Given the description of an element on the screen output the (x, y) to click on. 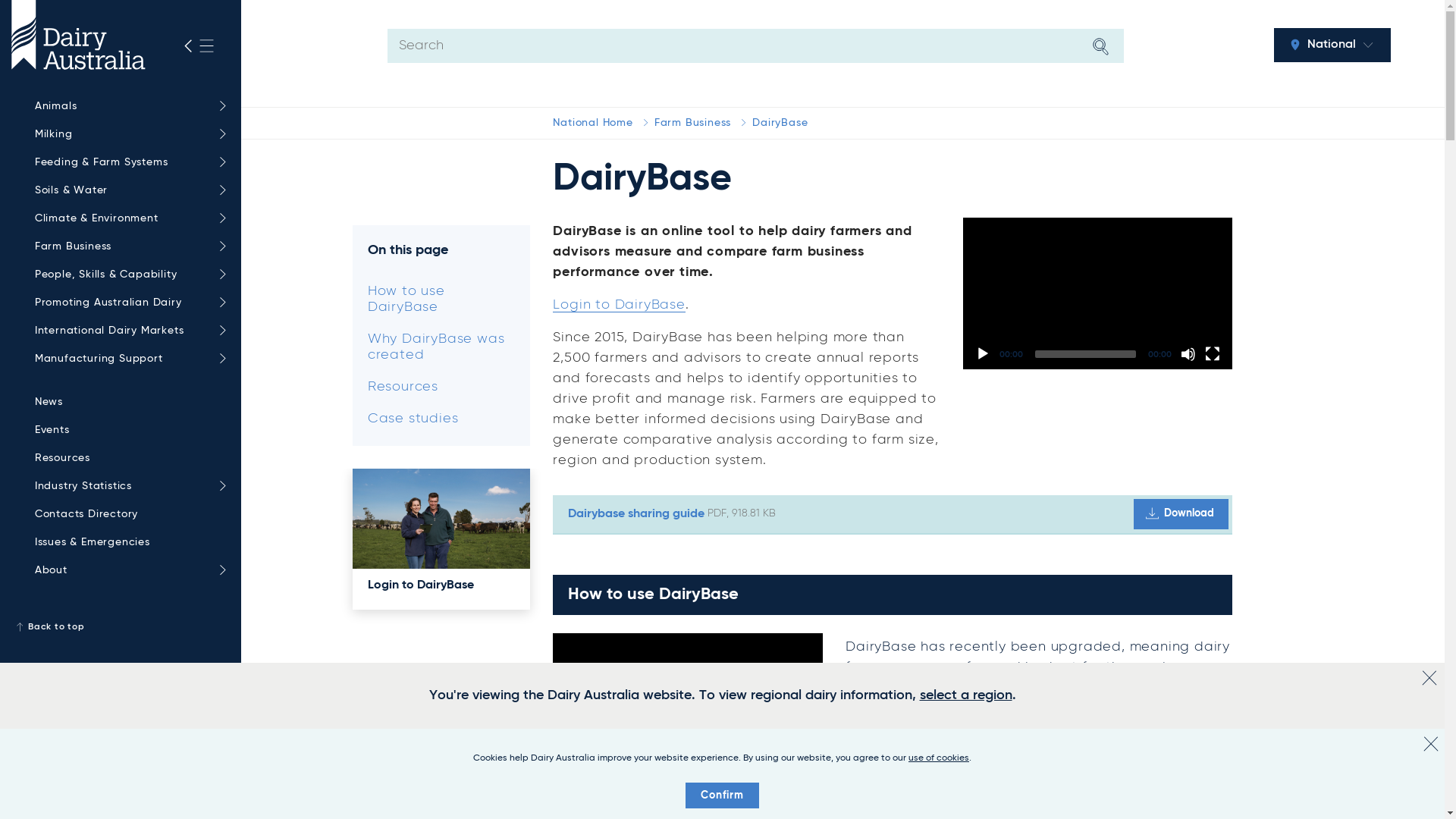
About Element type: text (126, 570)
X Element type: text (1429, 677)
Promoting Australian Dairy Element type: text (126, 302)
National Home Element type: text (592, 122)
Login to DairyBase Element type: text (618, 305)
Climate & Environment Element type: text (126, 218)
International Dairy Markets Element type: text (126, 330)
Login to DairyBase Element type: text (441, 588)
Download Element type: text (1180, 513)
Fullscreen Element type: hover (802, 769)
Farm Business Element type: text (692, 122)
Fullscreen Element type: hover (1212, 353)
Industry Statistics Element type: text (126, 486)
Play Element type: hover (572, 769)
Resources Element type: text (126, 458)
Milking Element type: text (126, 134)
select a region Element type: text (965, 695)
Mute Element type: hover (1187, 353)
Why DairyBase was created Element type: text (441, 347)
Animals Element type: text (126, 106)
Back to top Element type: text (120, 626)
Case studies Element type: text (441, 419)
DairyBase Element type: text (779, 122)
X Element type: text (1430, 743)
Events Element type: text (126, 430)
Mute Element type: hover (778, 769)
Soils & Water Element type: text (126, 190)
Issues & Emergencies Element type: text (126, 542)
Play Element type: hover (982, 353)
Resources Element type: text (441, 387)
People, Skills & Capability Element type: text (126, 274)
Feeding & Farm Systems Element type: text (126, 162)
Farm Business Element type: text (126, 246)
News Element type: text (126, 402)
Confirm Element type: text (722, 795)
Contacts Directory Element type: text (126, 514)
How to use DairyBase Element type: text (441, 299)
use of cookies Element type: text (938, 757)
Manufacturing Support Element type: text (126, 359)
National Element type: text (1332, 45)
